Given the description of an element on the screen output the (x, y) to click on. 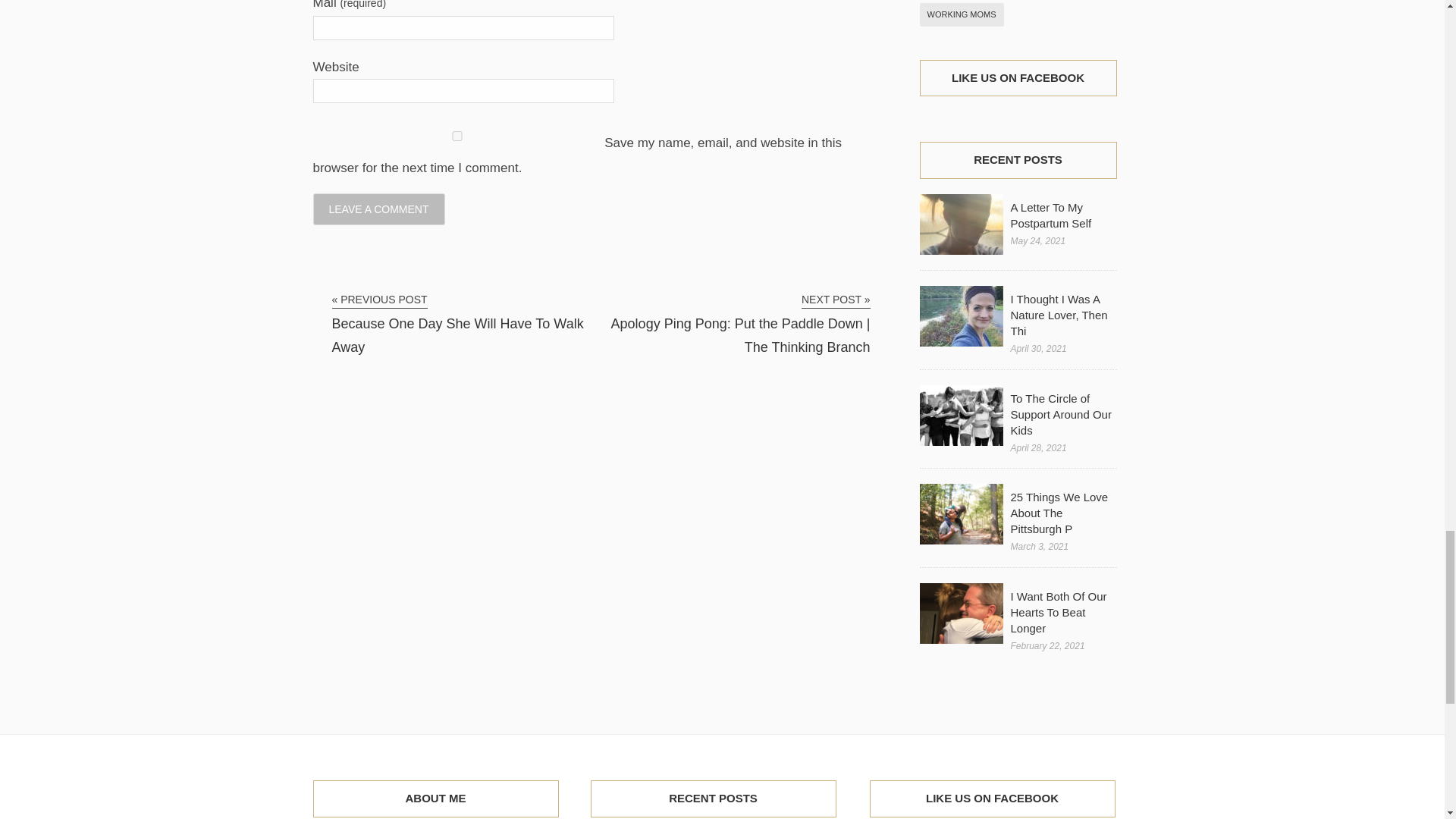
Leave a Comment (378, 208)
yes (456, 135)
